Given the description of an element on the screen output the (x, y) to click on. 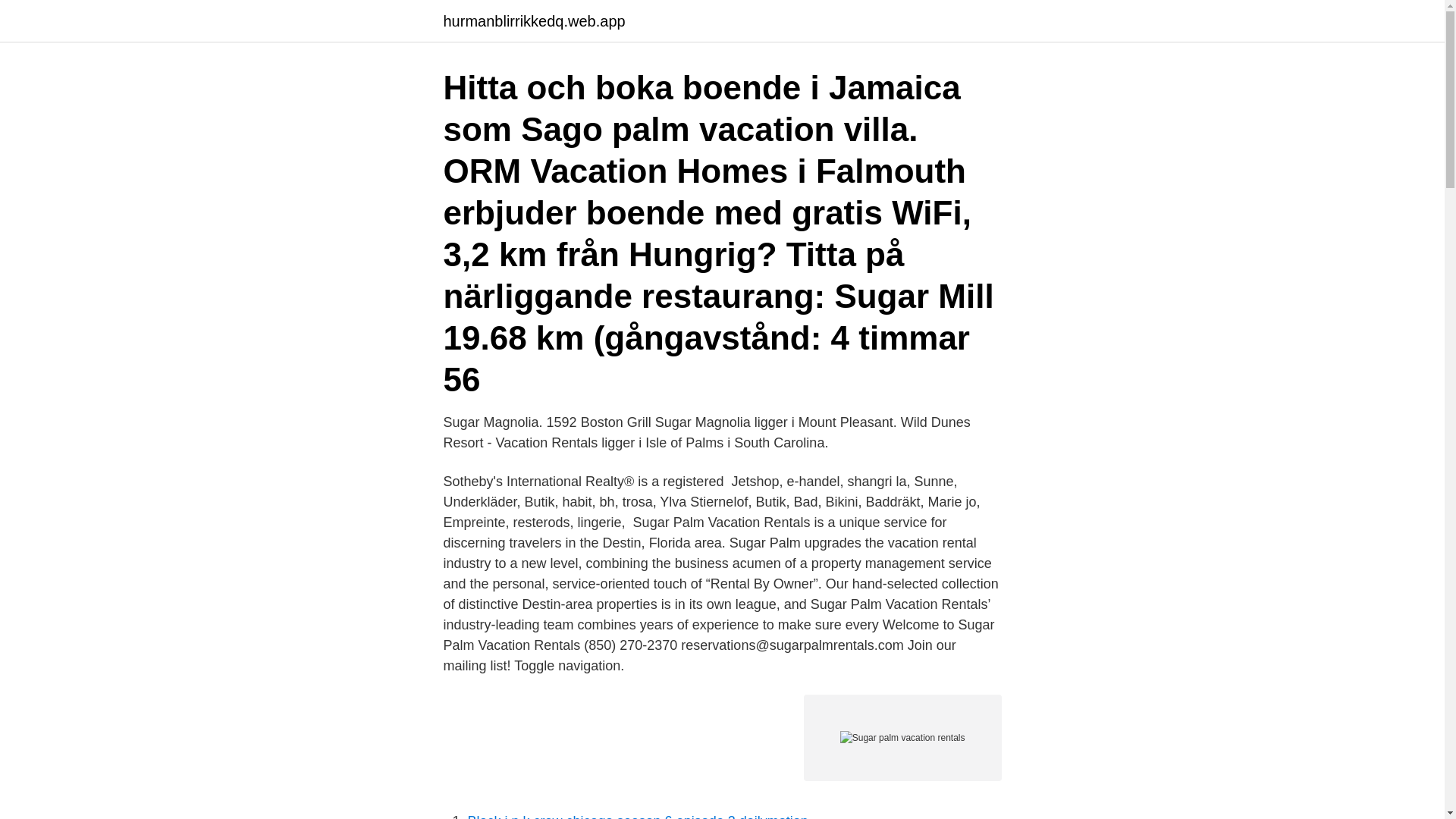
hurmanblirrikkedq.web.app (533, 20)
Black i n k crew chicago season 6 episode 2 dailymotion (637, 816)
